Given the description of an element on the screen output the (x, y) to click on. 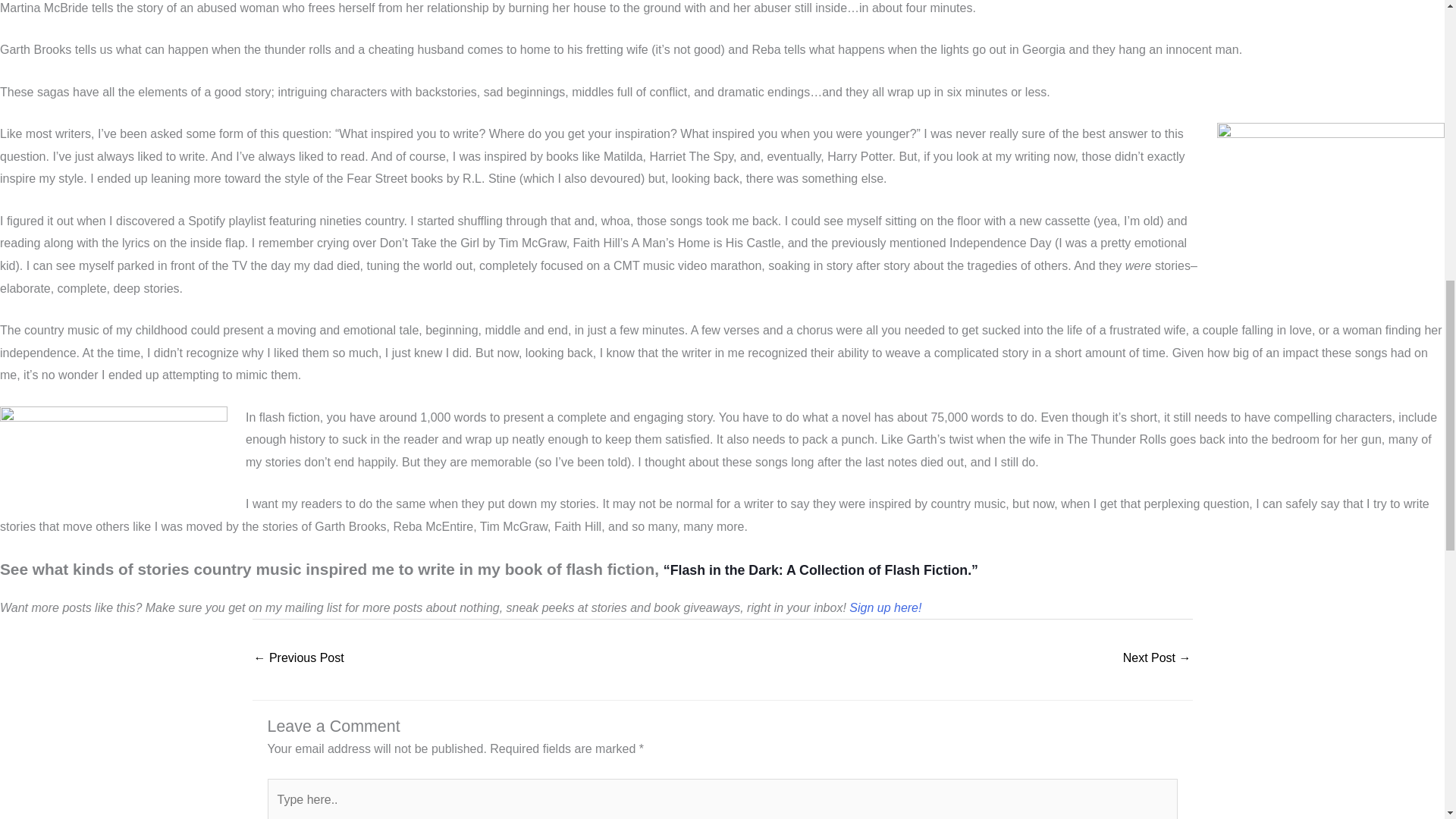
The AI in My Bedroom (298, 659)
Is Life Just a Series of Changes? (1156, 659)
Sign up here! (884, 607)
